Given the description of an element on the screen output the (x, y) to click on. 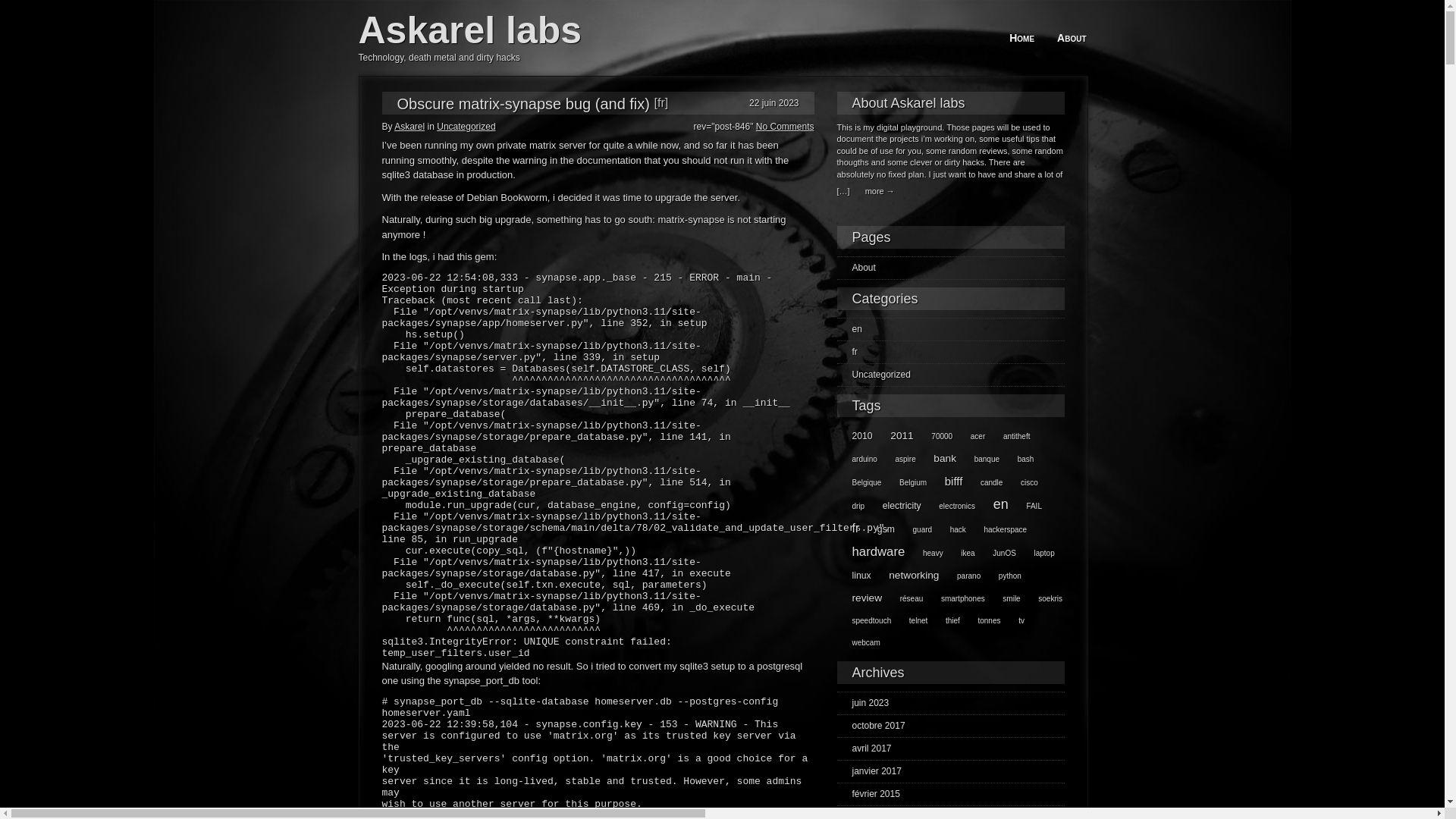
aspire Element type: text (897, 459)
Uncategorized Element type: text (465, 126)
70000 Element type: text (934, 436)
octobre 2017 Element type: text (871, 725)
review Element type: text (859, 597)
hack Element type: text (950, 529)
Uncategorized Element type: text (873, 374)
About Element type: text (856, 267)
arduino Element type: text (857, 459)
networking Element type: text (905, 574)
acer Element type: text (970, 436)
bank Element type: text (937, 458)
Obscure matrix-synapse bug (and fix) [fr] Element type: text (532, 103)
Belgique Element type: text (859, 482)
fr Element type: text (847, 351)
hardware Element type: text (871, 551)
Askarel labs Element type: text (469, 30)
heavy Element type: text (925, 553)
No Comments Element type: text (785, 126)
en Element type: text (849, 328)
2011 Element type: text (894, 435)
FAIL Element type: text (1025, 506)
Belgium Element type: text (905, 482)
linux Element type: text (854, 575)
smile Element type: text (1003, 598)
2010 Element type: text (854, 435)
gsm Element type: text (878, 529)
drip Element type: text (851, 506)
electricity Element type: text (894, 505)
parano Element type: text (960, 575)
speedtouch Element type: text (864, 620)
guard Element type: text (914, 529)
avril 2017 Element type: text (864, 748)
webcam Element type: text (858, 642)
tv Element type: text (1013, 620)
juin 2023 Element type: text (863, 702)
en Element type: text (993, 503)
python Element type: text (1002, 575)
bash Element type: text (1018, 459)
laptop Element type: text (1036, 553)
soekris Element type: text (1042, 598)
JunOS Element type: text (996, 553)
smartphones Element type: text (955, 598)
electronics Element type: text (949, 506)
telnet Element type: text (910, 620)
candle Element type: text (983, 482)
tonnes Element type: text (981, 620)
antitheft Element type: text (1009, 436)
ikea Element type: text (959, 553)
cisco Element type: text (1021, 482)
janvier 2017 Element type: text (869, 770)
Home Element type: text (1021, 37)
hackerspace Element type: text (997, 529)
banque Element type: text (979, 459)
About Element type: text (1071, 37)
fr Element type: text (848, 527)
bifff Element type: text (946, 480)
Askarel Element type: text (409, 126)
thief Element type: text (945, 620)
